Given the description of an element on the screen output the (x, y) to click on. 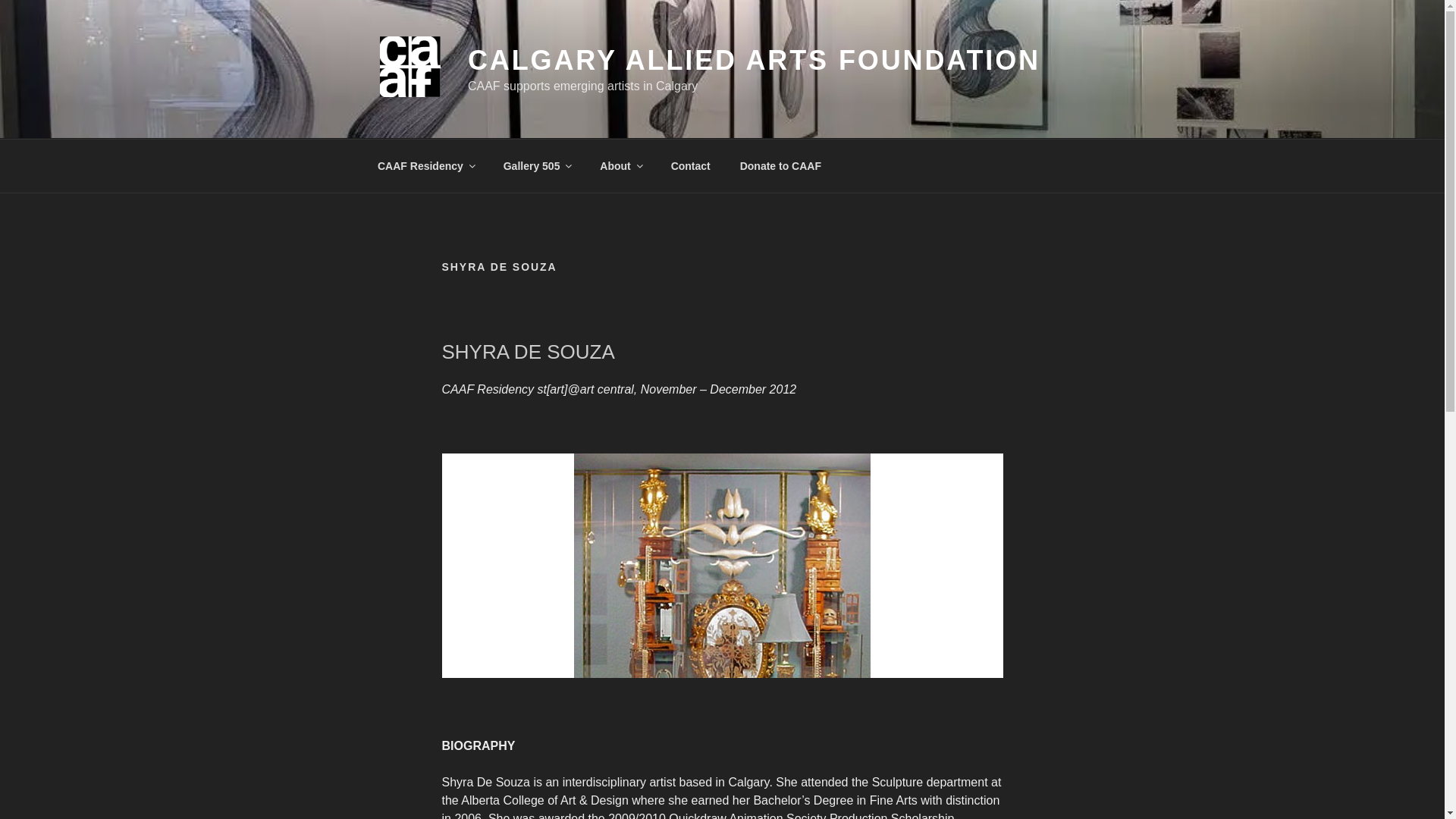
Gallery 505 (536, 165)
Donate to CAAF (780, 165)
CALGARY ALLIED ARTS FOUNDATION (754, 60)
Contact (690, 165)
CAAF Residency (425, 165)
About (619, 165)
